Given the description of an element on the screen output the (x, y) to click on. 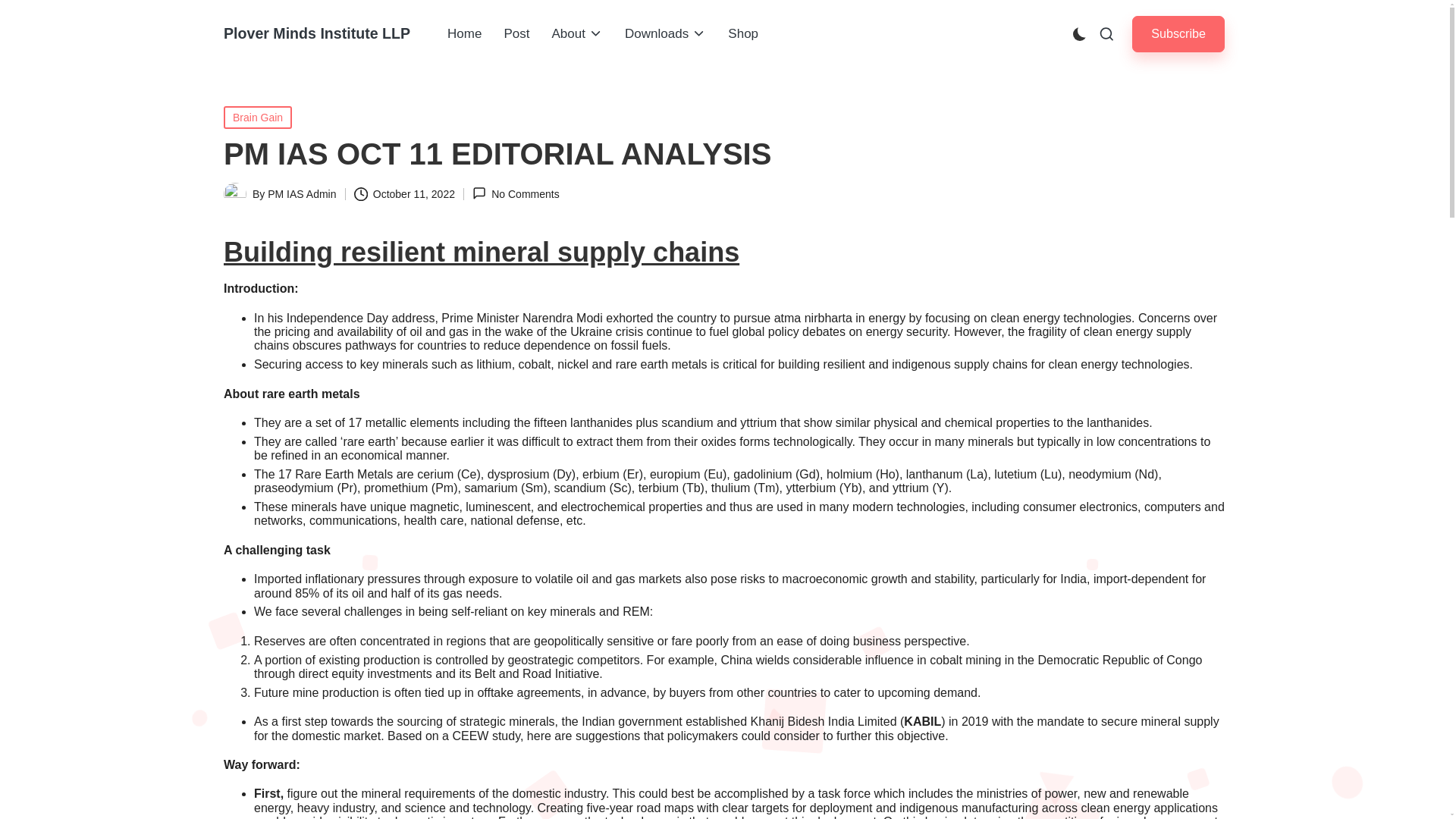
Home (464, 34)
About (576, 34)
Downloads (665, 34)
Subscribe (1178, 33)
Shop (742, 34)
View all posts by PM IAS Admin (301, 193)
Plover Minds Institute LLP (317, 33)
Brain Gain (258, 117)
Post (516, 34)
PM IAS Admin (301, 193)
No Comments (515, 193)
